Given the description of an element on the screen output the (x, y) to click on. 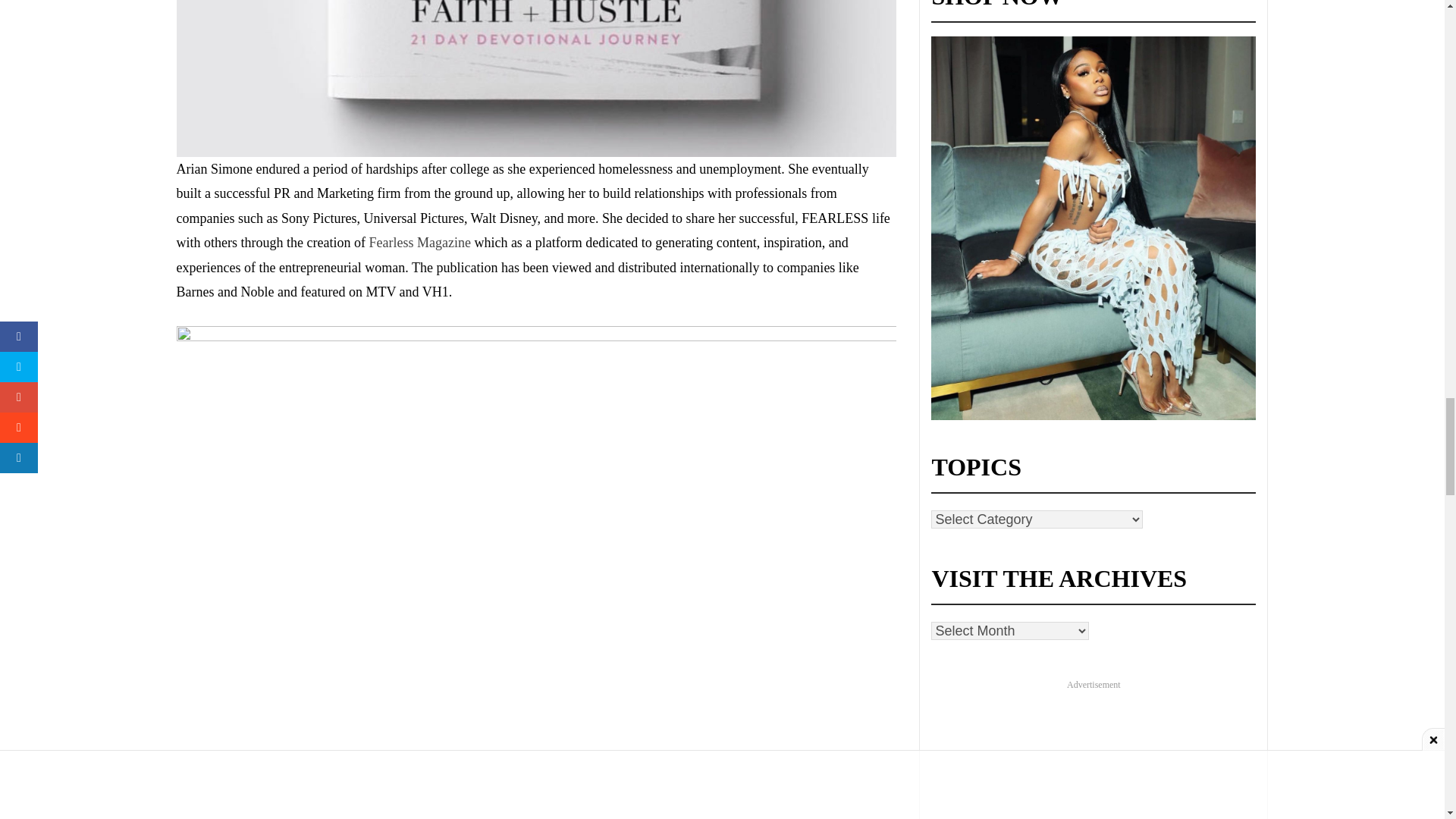
3rd party ad content (1093, 754)
